Given the description of an element on the screen output the (x, y) to click on. 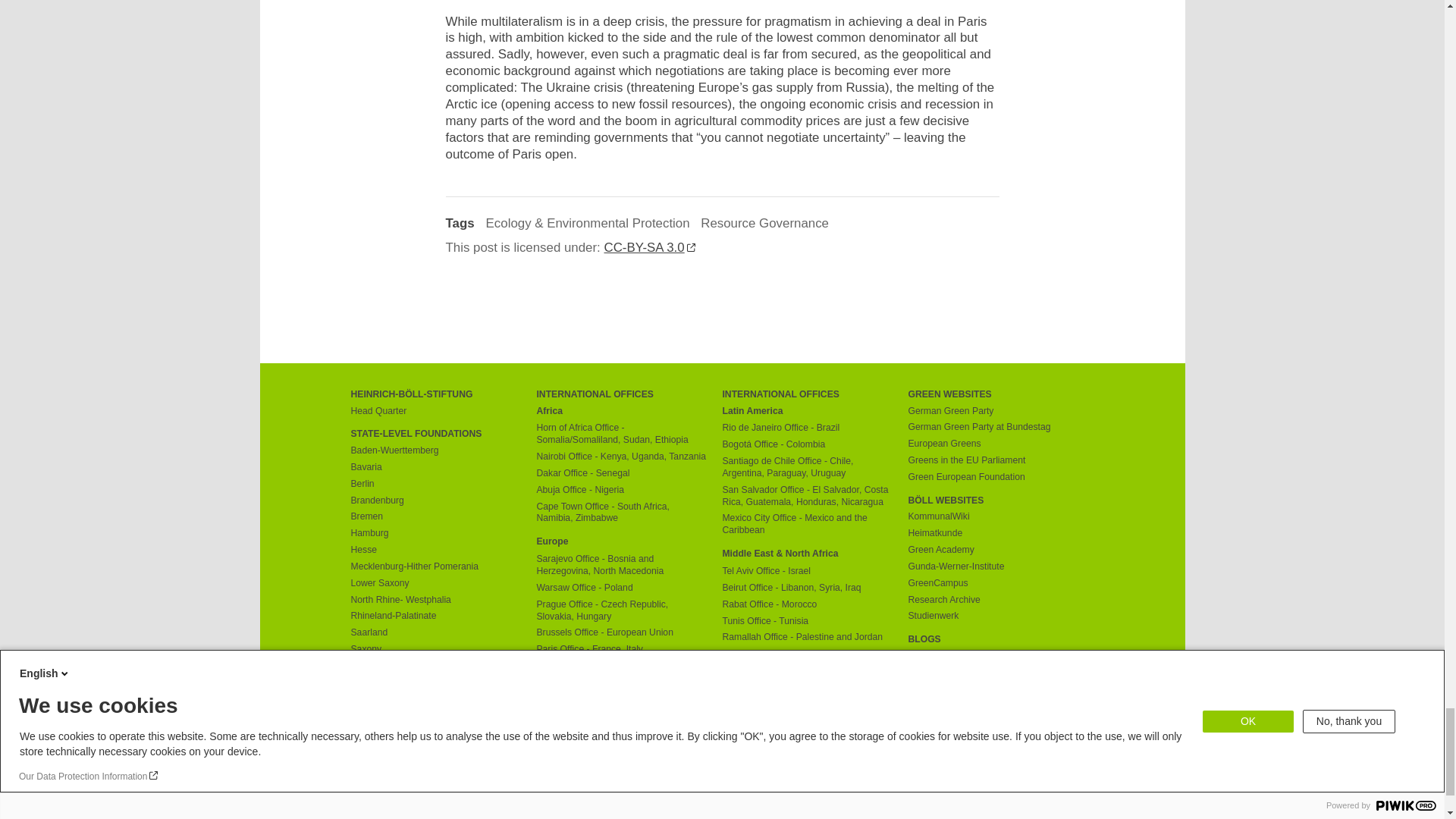
Resource Governance (764, 223)
